Given the description of an element on the screen output the (x, y) to click on. 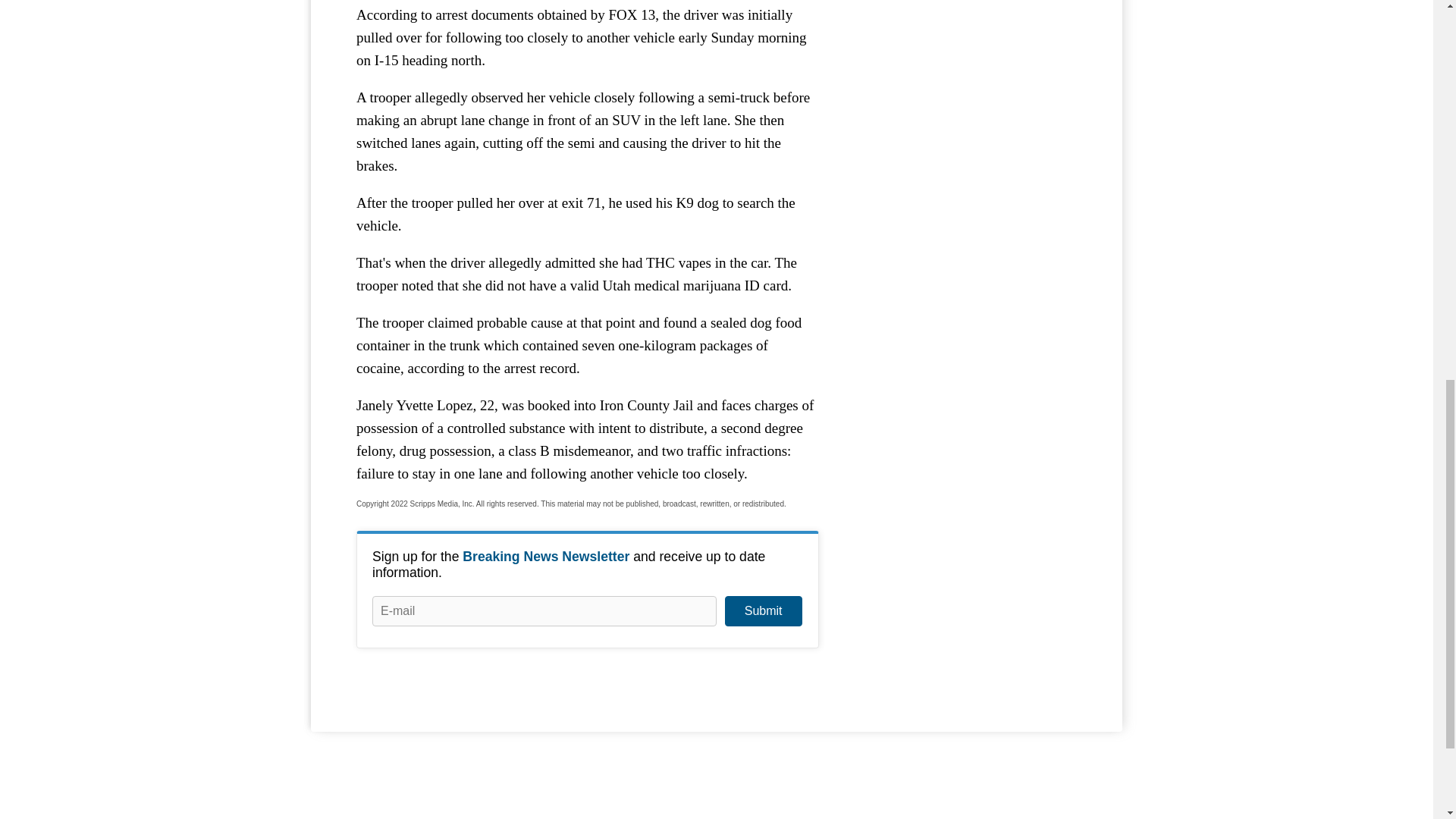
Submit (763, 611)
